Given the description of an element on the screen output the (x, y) to click on. 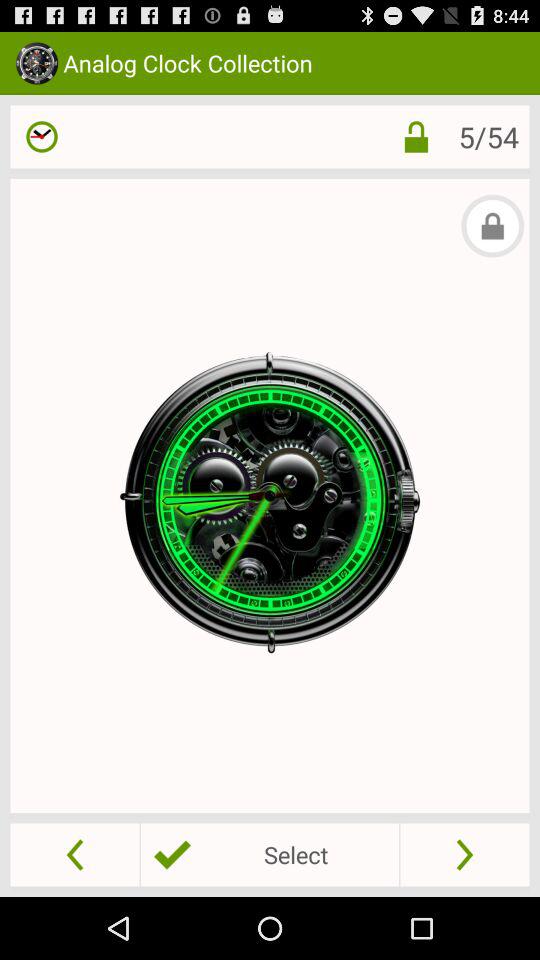
press select (269, 854)
